Given the description of an element on the screen output the (x, y) to click on. 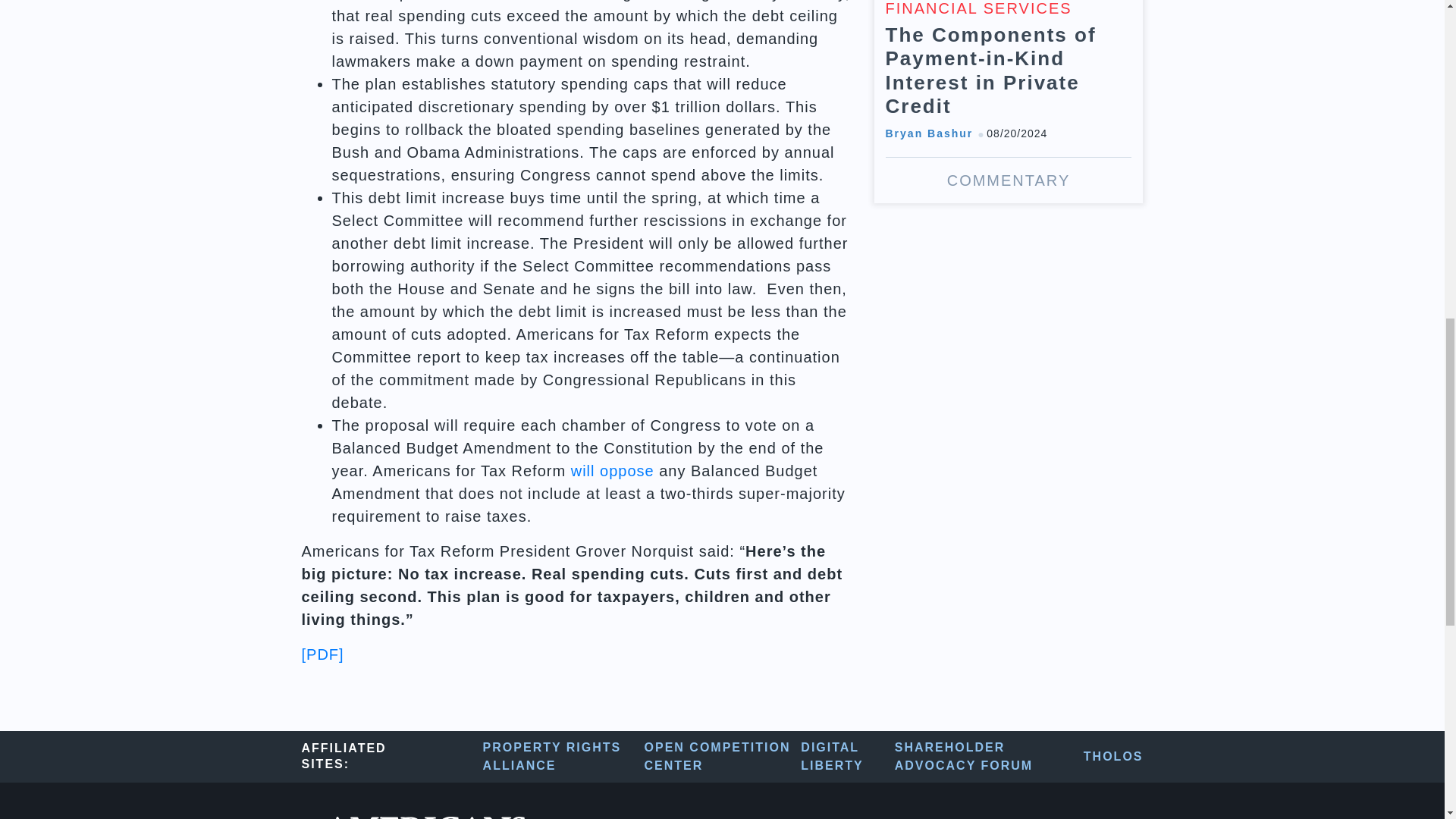
will oppose (611, 470)
PROPERTY RIGHTS ALLIANCE (564, 756)
The Components of Payment-in-Kind Interest in Private Credit (1007, 101)
